Given the description of an element on the screen output the (x, y) to click on. 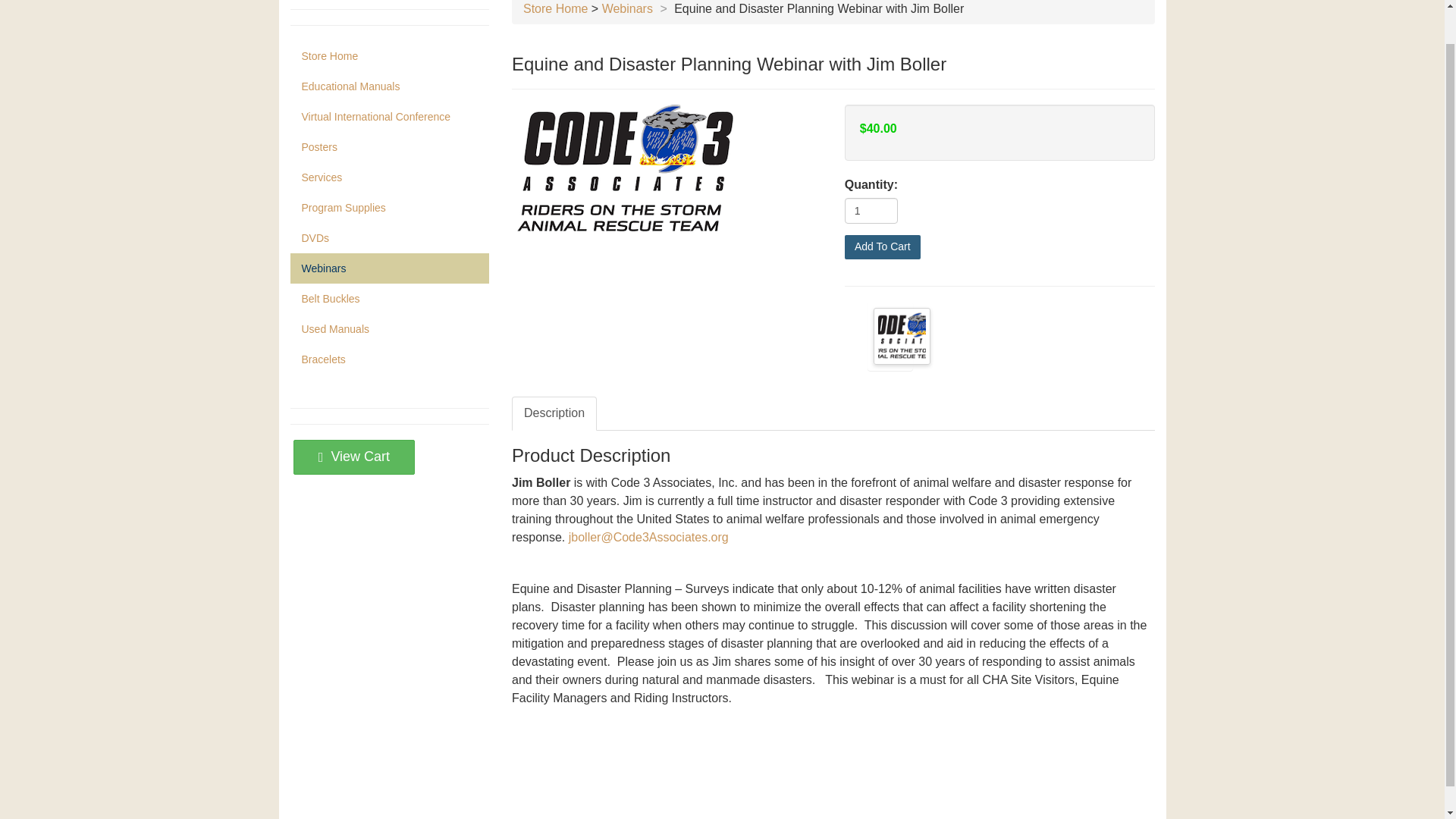
Educational Manuals (389, 86)
  View Cart (354, 455)
Description (554, 413)
Used Manuals (389, 328)
Belt Buckles (389, 298)
Store Home (555, 8)
  View Cart (354, 457)
Program Supplies (389, 207)
Bracelets (389, 358)
Webinars (389, 268)
